Given the description of an element on the screen output the (x, y) to click on. 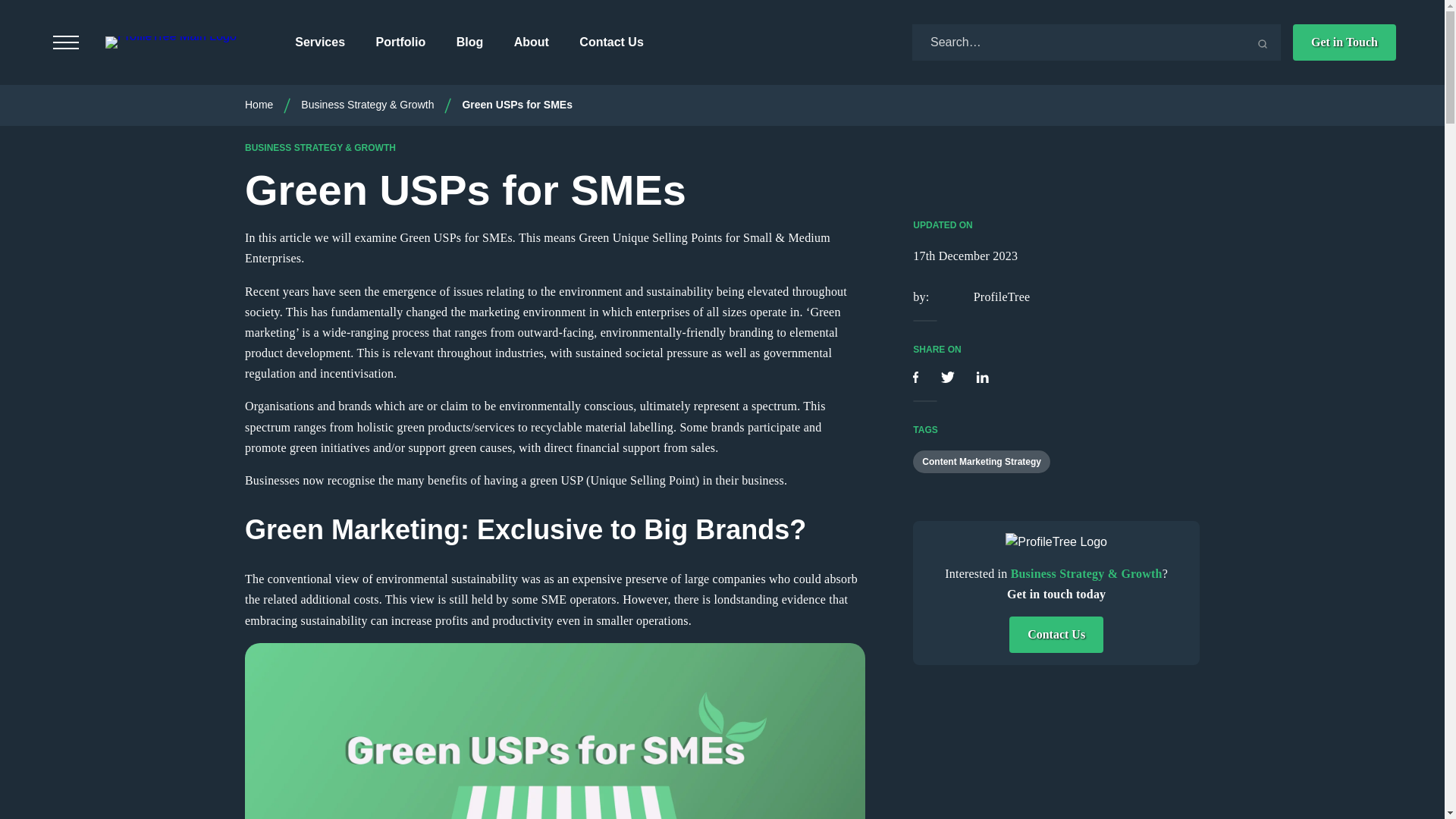
About (530, 42)
Contact Us (611, 42)
Share on Twitter (949, 378)
Share on LinkedIn (981, 378)
Blog (470, 42)
Services (320, 42)
Home (258, 104)
Portfolio (400, 42)
Get in Touch (1344, 42)
